Given the description of an element on the screen output the (x, y) to click on. 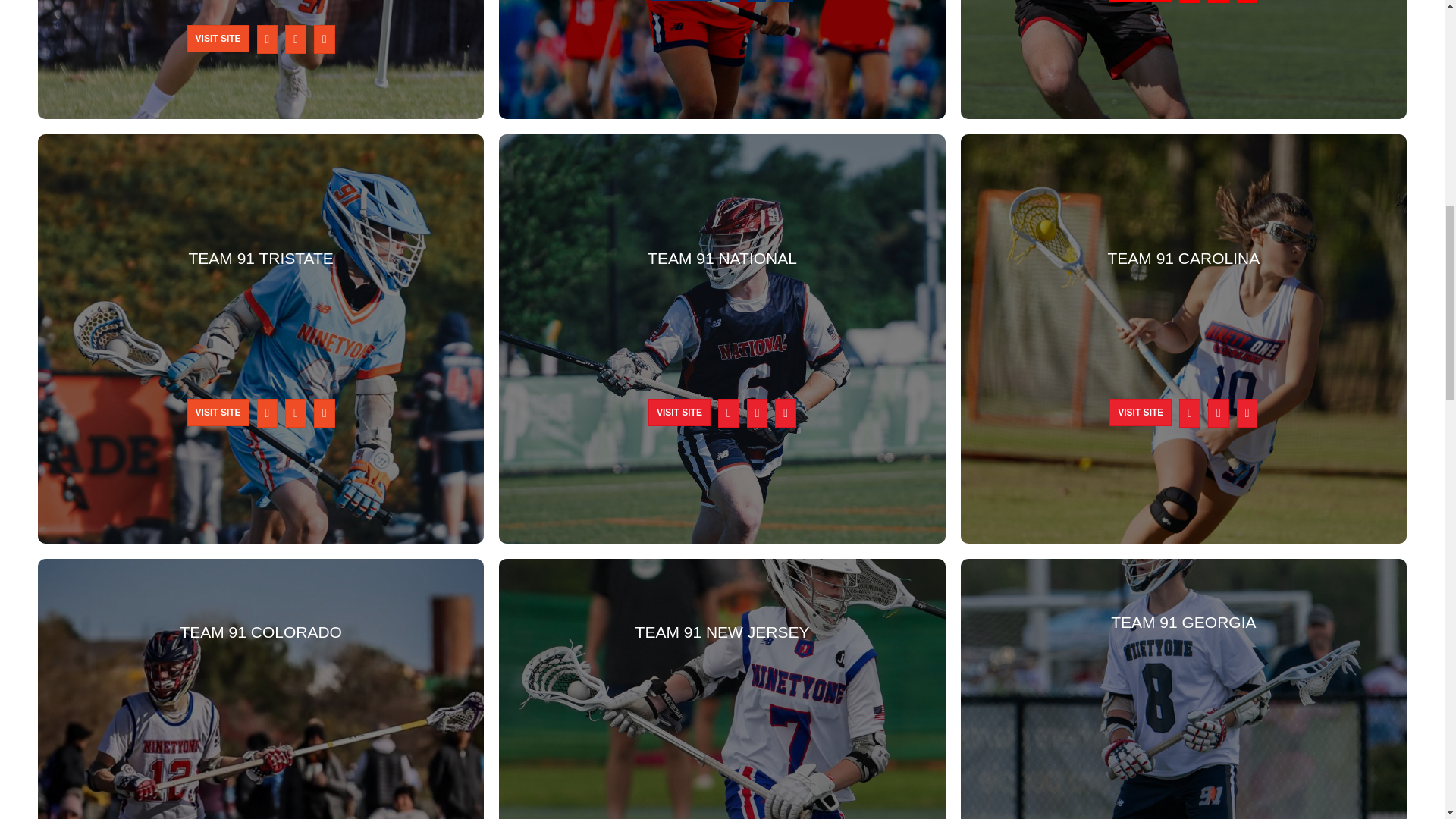
VISIT SITE (217, 411)
VISIT SITE (680, 0)
VISIT SITE (217, 38)
VISIT SITE (1140, 0)
